Given the description of an element on the screen output the (x, y) to click on. 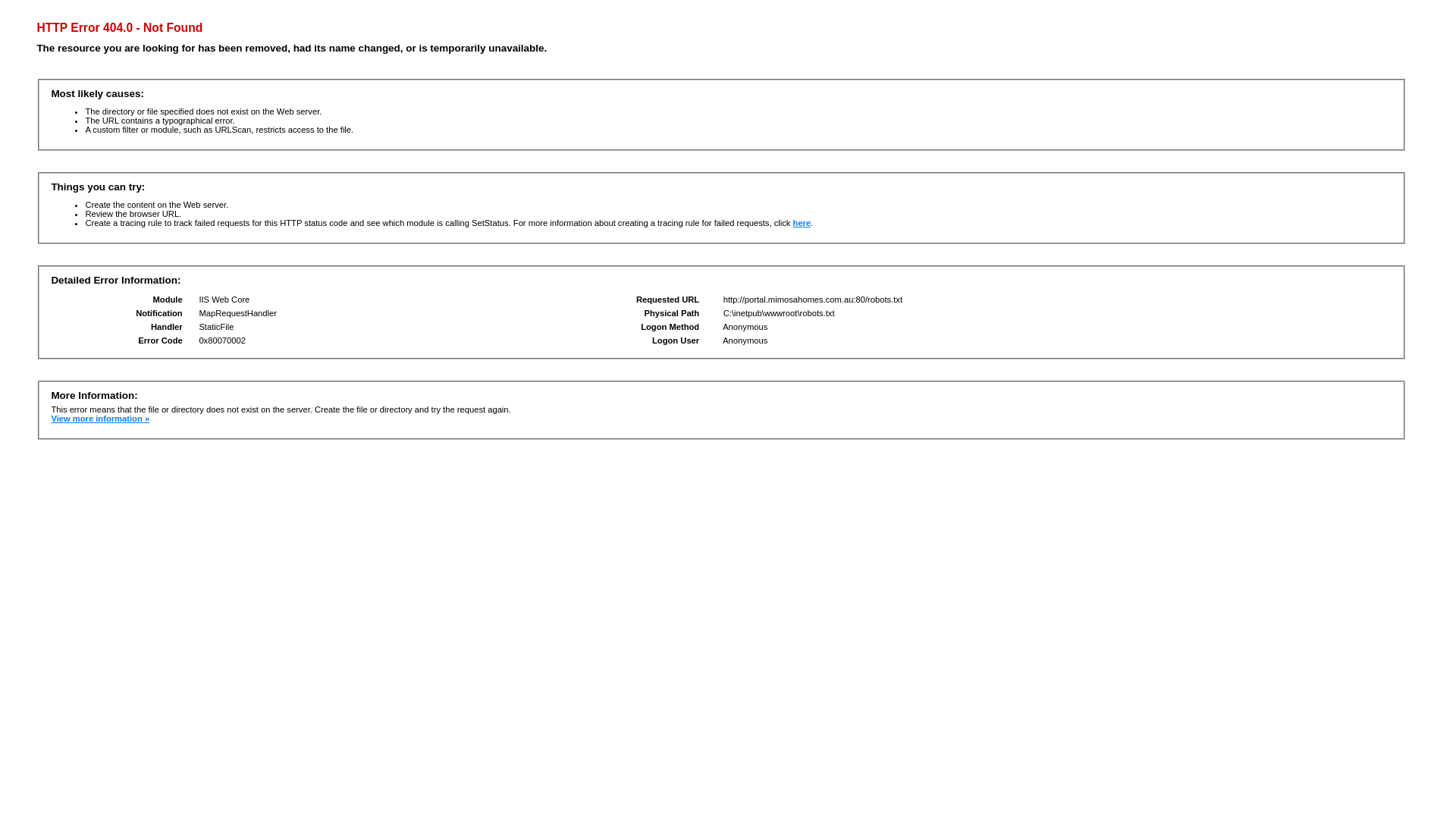
here Element type: text (802, 222)
